Given the description of an element on the screen output the (x, y) to click on. 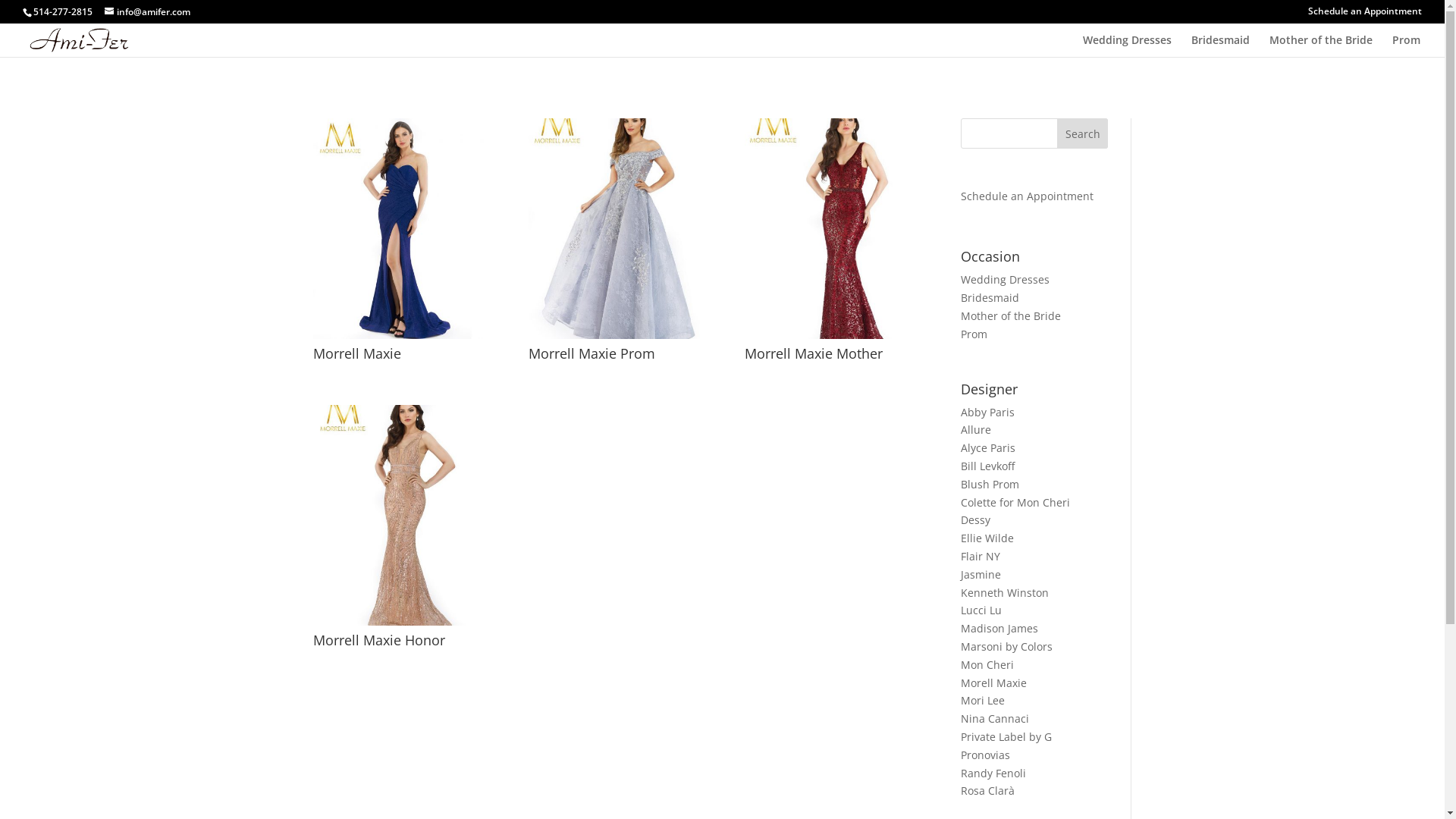
Search Element type: text (1082, 133)
Randy Fenoli Element type: text (993, 772)
Flair NY Element type: text (980, 556)
Morrell Maxie Honor Element type: hover (397, 621)
Morrell Maxie Prom Element type: hover (613, 334)
Schedule an Appointment Element type: text (1364, 14)
Wedding Dresses Element type: text (1004, 279)
Madison James Element type: text (999, 628)
Kenneth Winston Element type: text (1004, 592)
Lucci Lu Element type: text (980, 609)
Morrell Maxie Element type: hover (397, 334)
Abby Paris Element type: text (987, 411)
Mon Cheri Element type: text (986, 664)
Jasmine Element type: text (980, 574)
Mother of the Bride Element type: text (1010, 315)
info@amifer.com Element type: text (147, 11)
Wedding Dresses Element type: text (1126, 45)
Pronovias Element type: text (985, 754)
Morrell Maxie Mother Element type: hover (829, 334)
Prom Element type: text (1406, 45)
Mother of the Bride Element type: text (1320, 45)
Prom Element type: text (973, 333)
Alyce Paris Element type: text (987, 447)
Marsoni by Colors Element type: text (1006, 646)
Colette for Mon Cheri Element type: text (1015, 502)
Blush Prom Element type: text (989, 483)
Bill Levkoff Element type: text (987, 465)
Ellie Wilde Element type: text (986, 537)
Nina Cannaci Element type: text (994, 718)
Mori Lee Element type: text (982, 700)
Schedule an Appointment Element type: text (1026, 195)
Bridesmaid Element type: text (989, 297)
Morell Maxie Element type: text (993, 682)
Allure Element type: text (975, 429)
Bridesmaid Element type: text (1220, 45)
Private Label by G Element type: text (1005, 736)
Dessy Element type: text (975, 519)
